Given the description of an element on the screen output the (x, y) to click on. 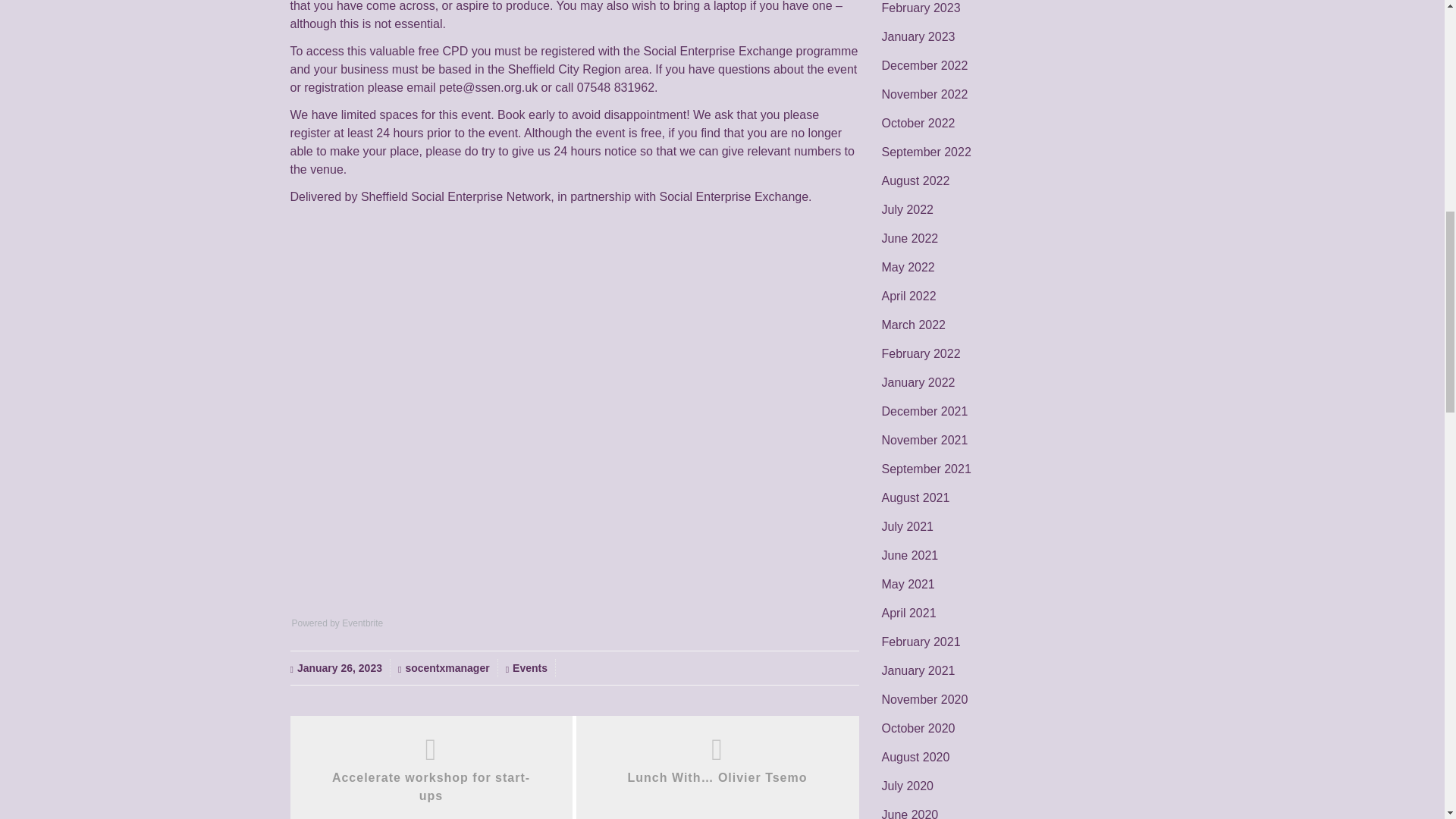
January 26, 2023 (339, 667)
Events (529, 667)
Accelerate workshop for start-ups (430, 787)
Powered by Eventbrite (336, 623)
socentxmanager (446, 667)
